Given the description of an element on the screen output the (x, y) to click on. 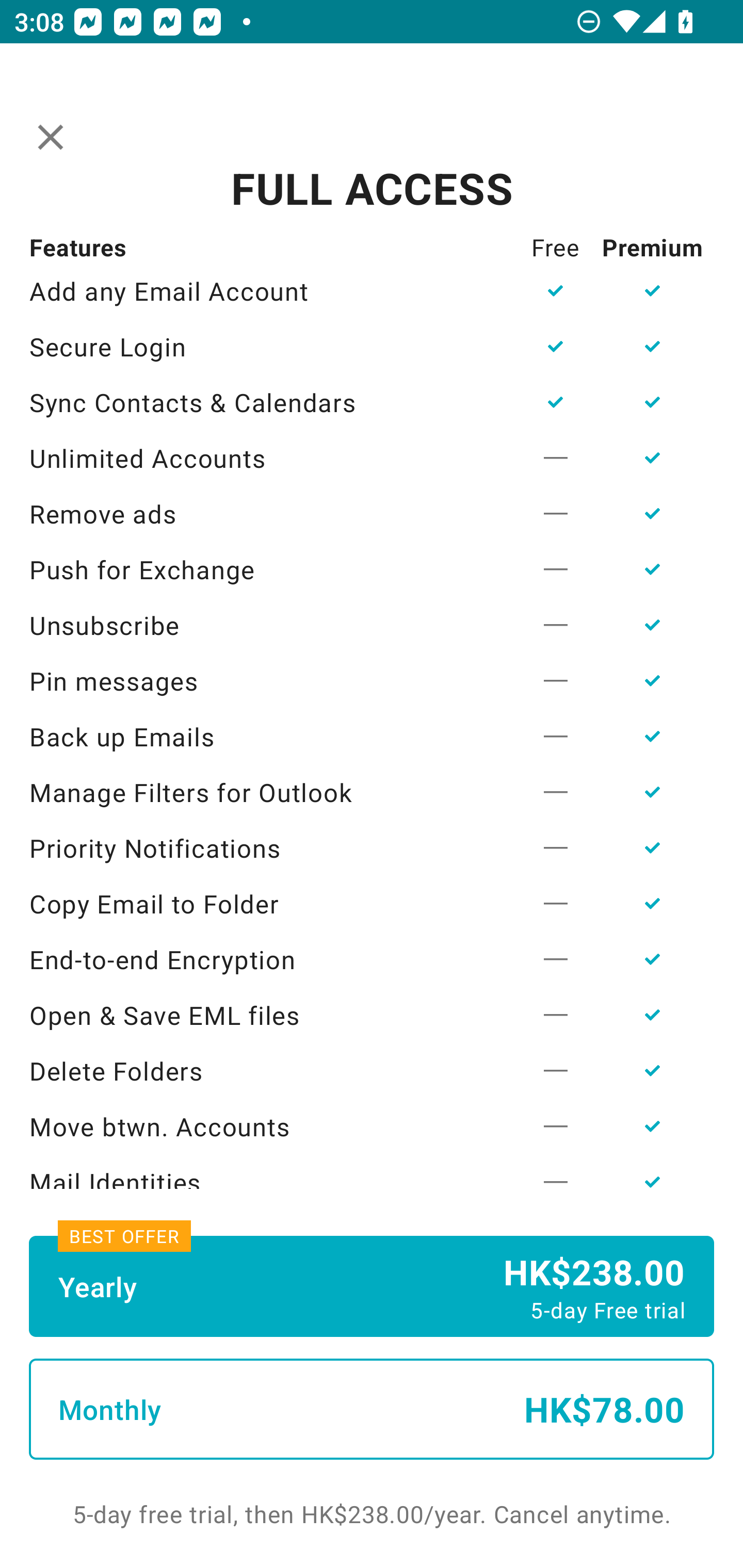
Yearly HK$238.00 5-day Free trial (371, 1286)
Monthly HK$78.00 (371, 1408)
